Given the description of an element on the screen output the (x, y) to click on. 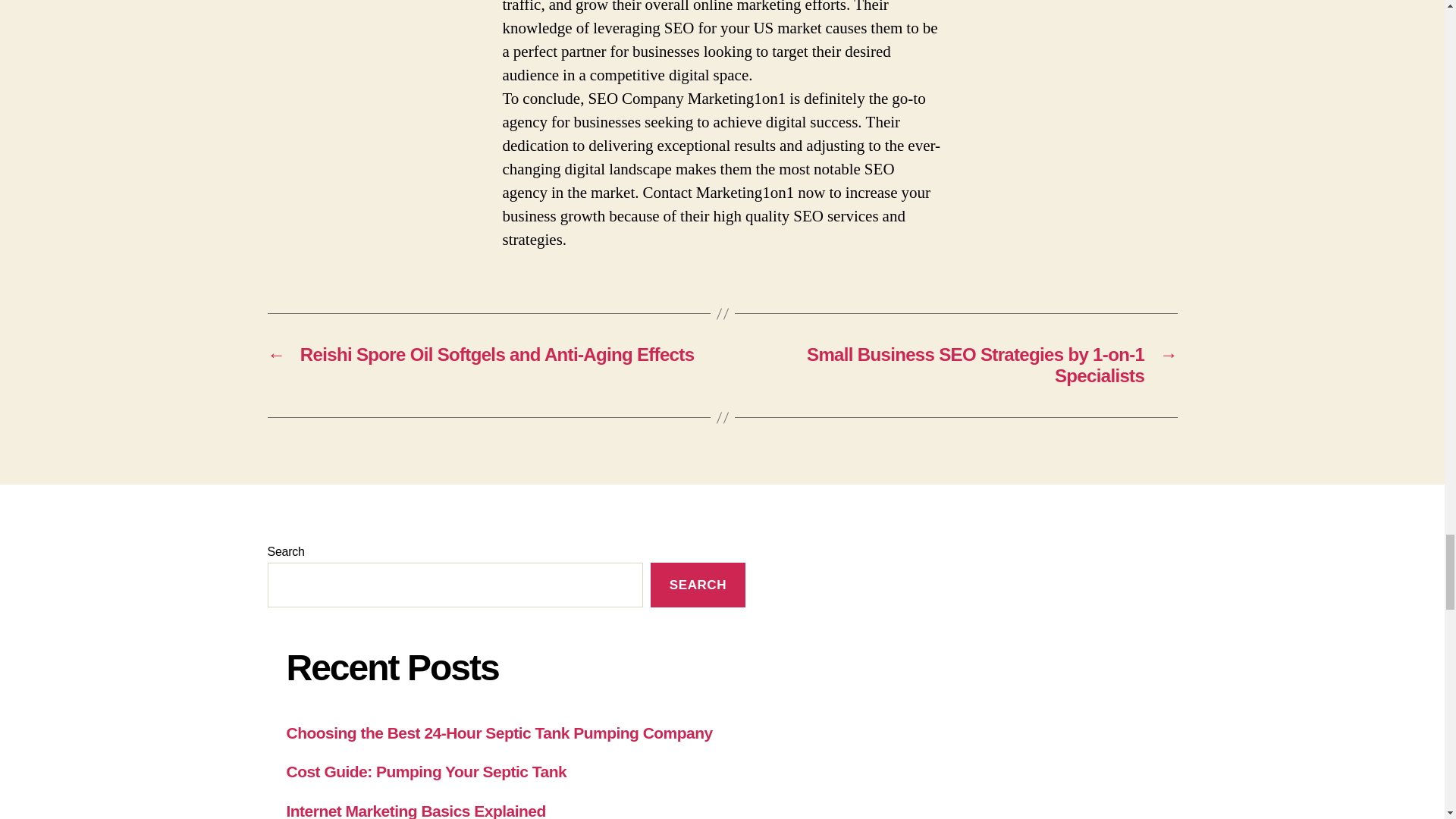
SEARCH (697, 584)
Choosing the Best 24-Hour Septic Tank Pumping Company (499, 732)
Internet Marketing Basics Explained (416, 810)
Cost Guide: Pumping Your Septic Tank (426, 771)
